Given the description of an element on the screen output the (x, y) to click on. 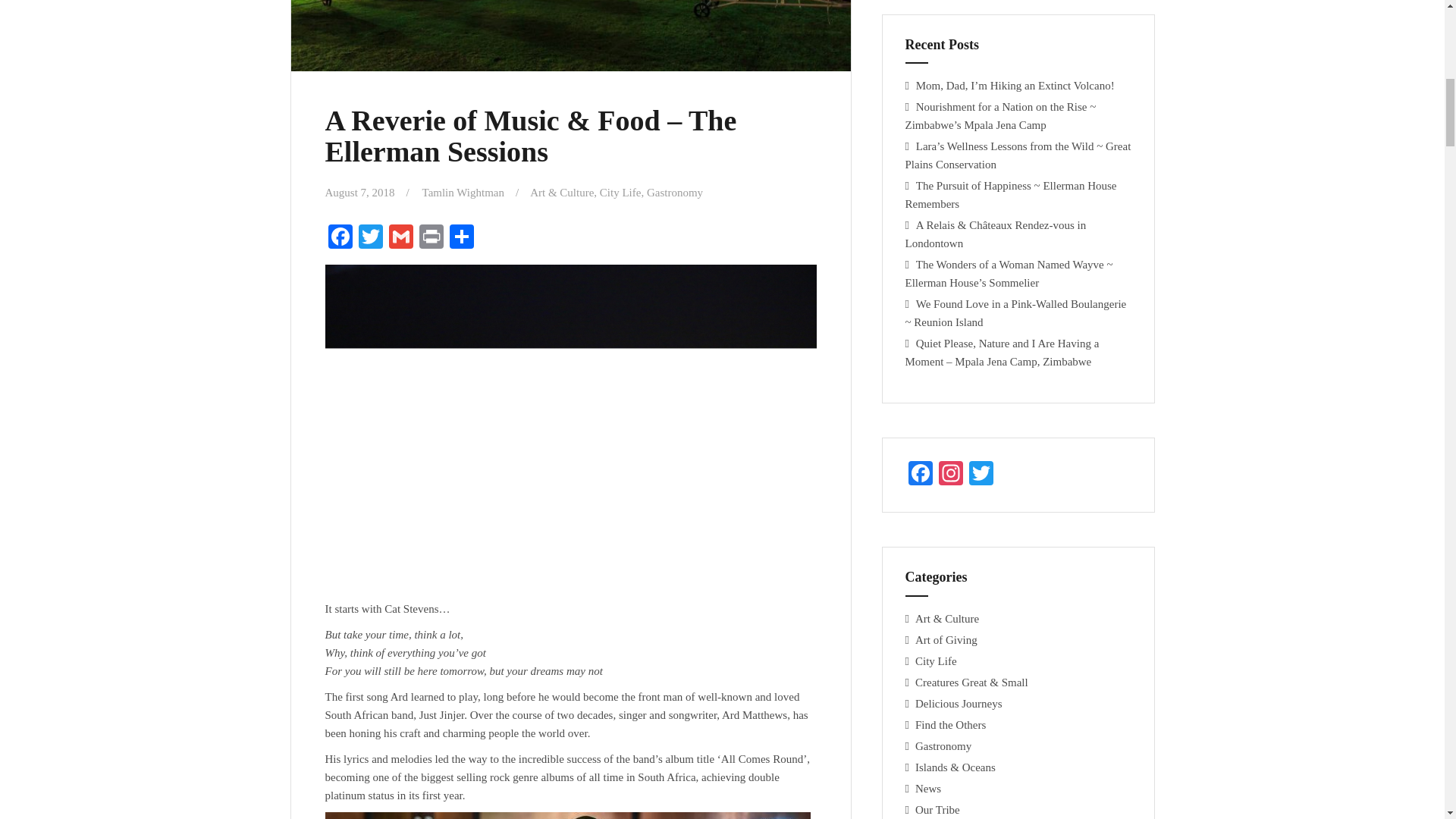
Print (429, 238)
Facebook (920, 474)
Tamlin Wightman (462, 192)
City Life (620, 192)
Facebook (339, 238)
Gastronomy (674, 192)
Instagram (951, 474)
Gmail (399, 238)
Print (429, 238)
Facebook (339, 238)
